Given the description of an element on the screen output the (x, y) to click on. 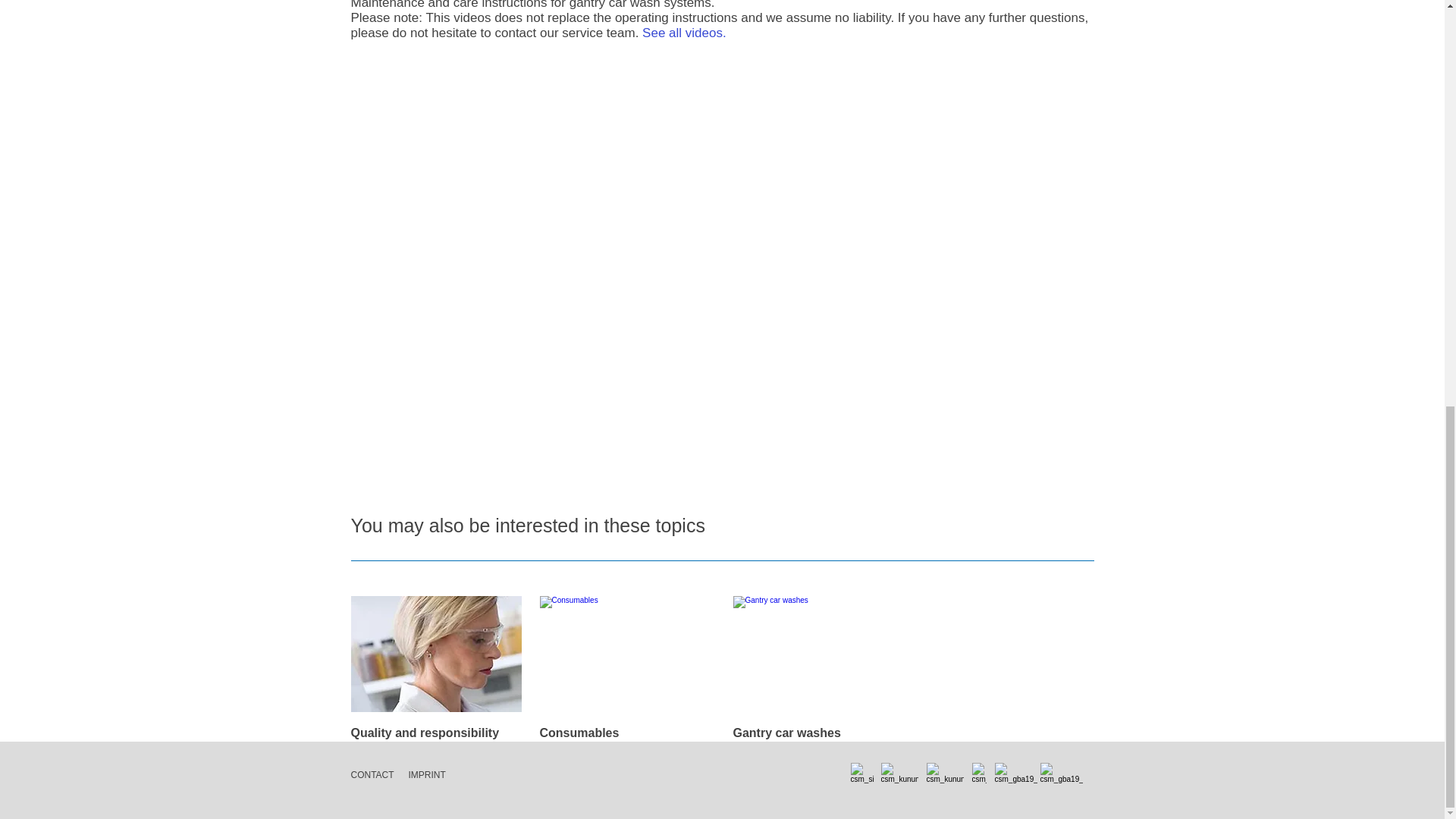
IMPRINT (426, 774)
CONTACT (371, 774)
Consumables (580, 732)
Gantry car washes (786, 732)
Quality and responsibility (424, 732)
See all videos. (684, 32)
